Given the description of an element on the screen output the (x, y) to click on. 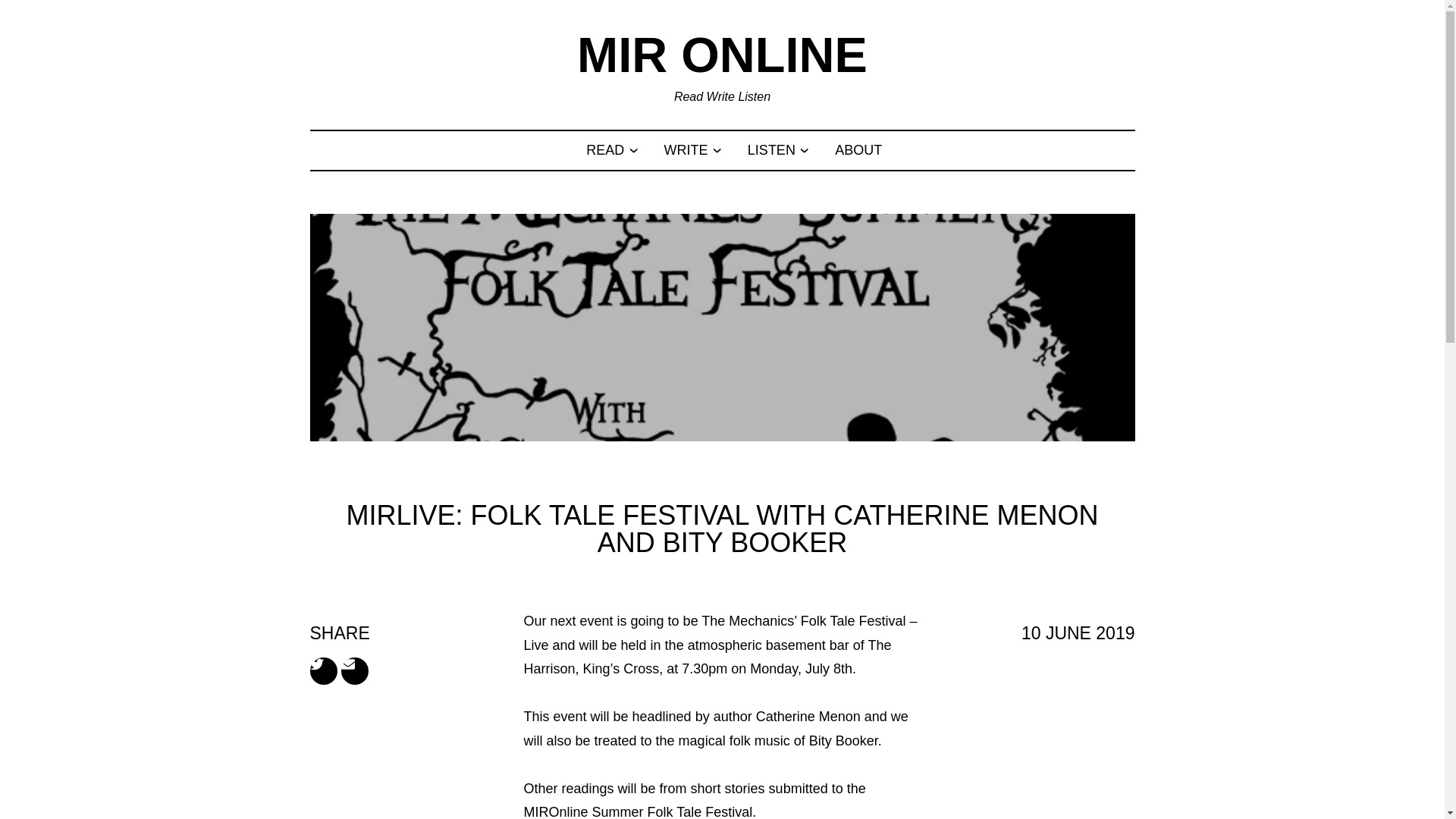
ABOUT (858, 150)
MIR ONLINE (721, 54)
Bity Booker (843, 740)
LISTEN (771, 150)
READ (605, 150)
Catherine Menon (807, 716)
WRITE (685, 150)
MIROnline Summer Folk Tale Festival (637, 811)
The Harrison (706, 657)
